Given the description of an element on the screen output the (x, y) to click on. 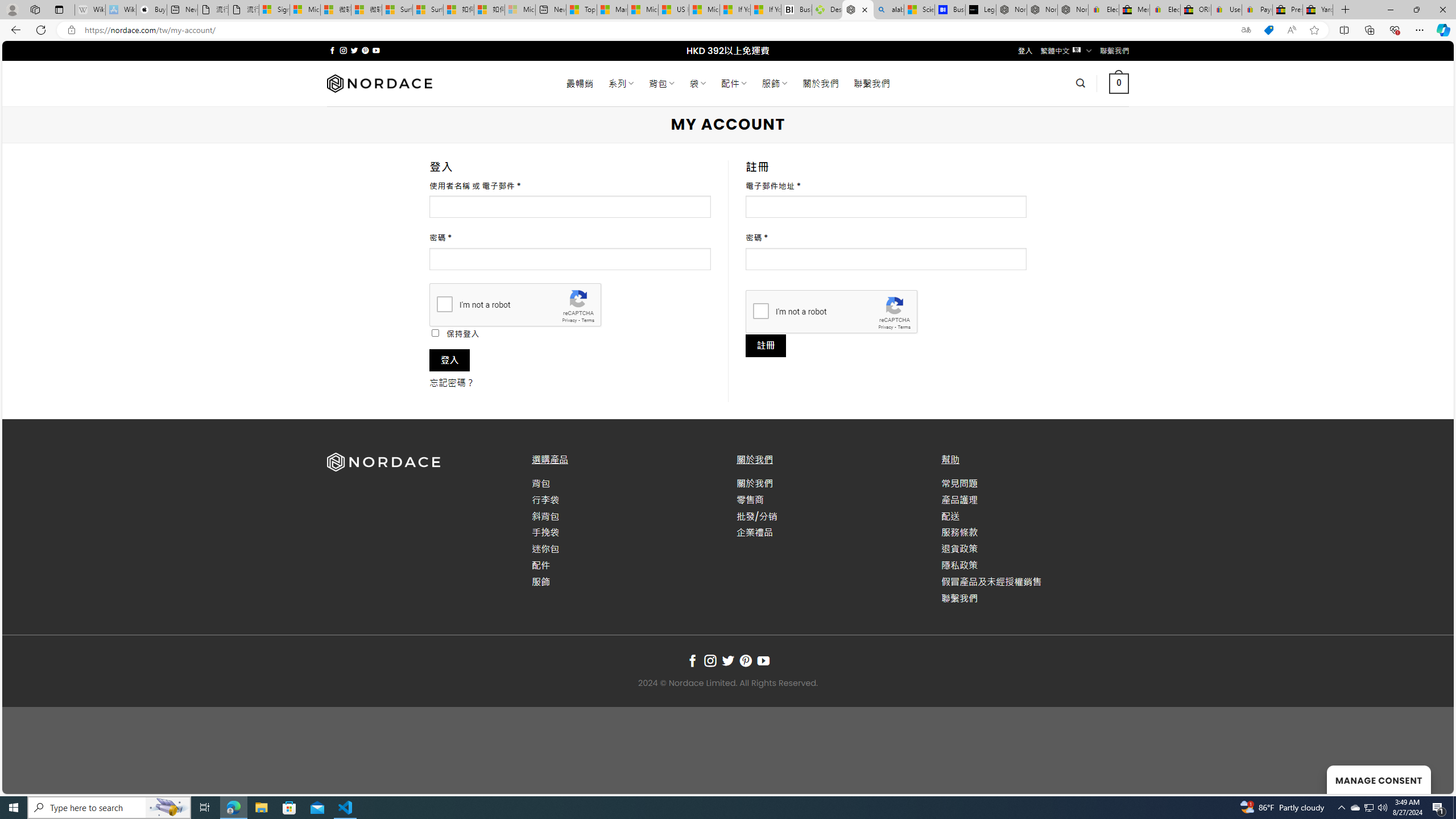
Payments Terms of Use | eBay.com (1256, 9)
Yard, Garden & Outdoor Living (1317, 9)
MANAGE CONSENT (1378, 779)
Microsoft account | Account Checkup - Sleeping (519, 9)
